Given the description of an element on the screen output the (x, y) to click on. 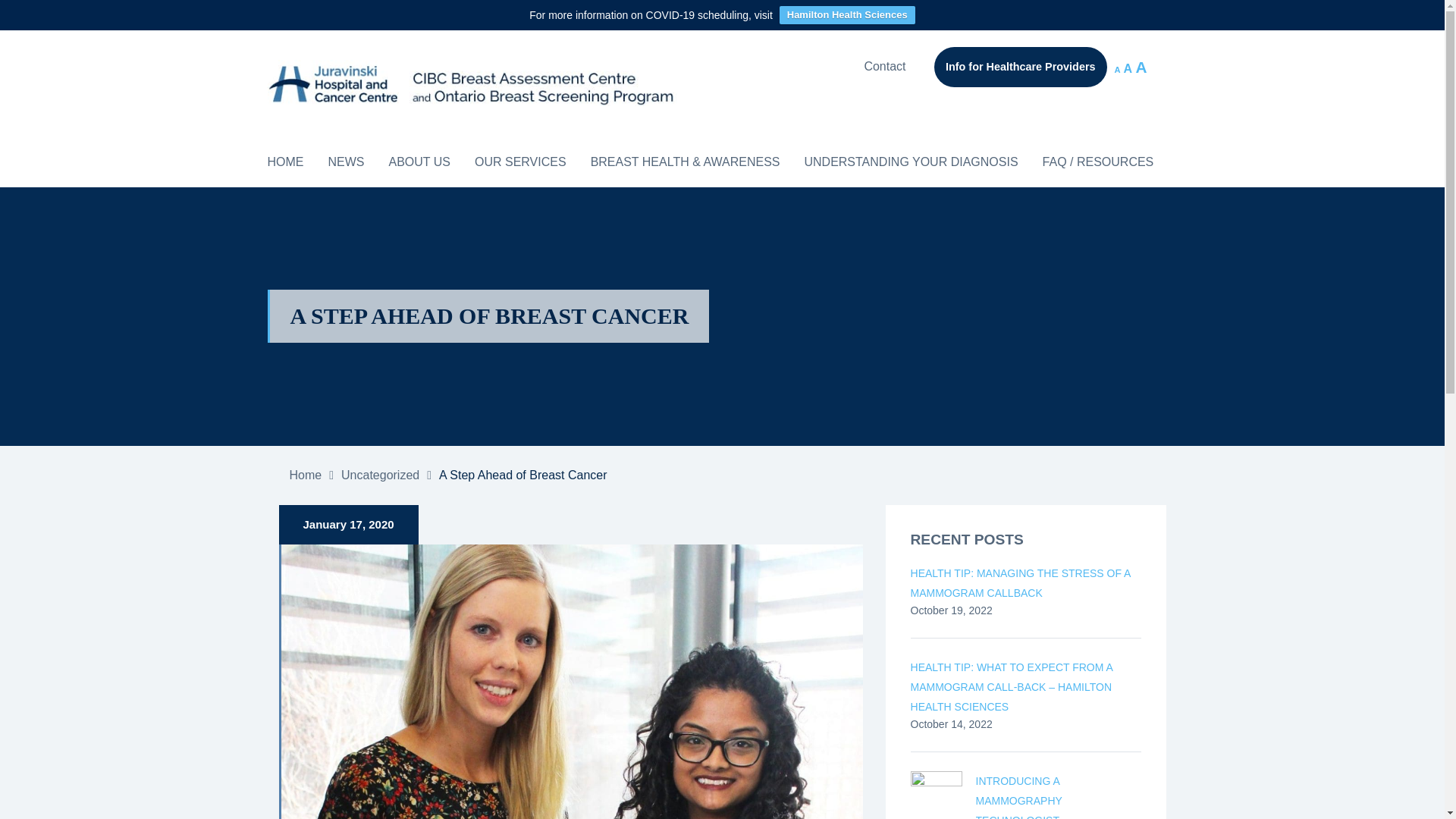
UNDERSTANDING YOUR DIAGNOSIS (910, 161)
Contact (884, 66)
INTRODUCING A MAMMOGRAPHY TECHNOLOGIST (1058, 795)
January 17, 2020 (348, 523)
Home (305, 475)
Info for Healthcare Providers (1020, 66)
HOME (284, 161)
ABOUT US (418, 161)
NEWS (345, 161)
HEALTH TIP: MANAGING THE STRESS OF A MAMMOGRAM CALLBACK (1026, 582)
Hamilton Health Sciences (846, 14)
Uncategorized (379, 475)
OUR SERVICES (520, 161)
